Given the description of an element on the screen output the (x, y) to click on. 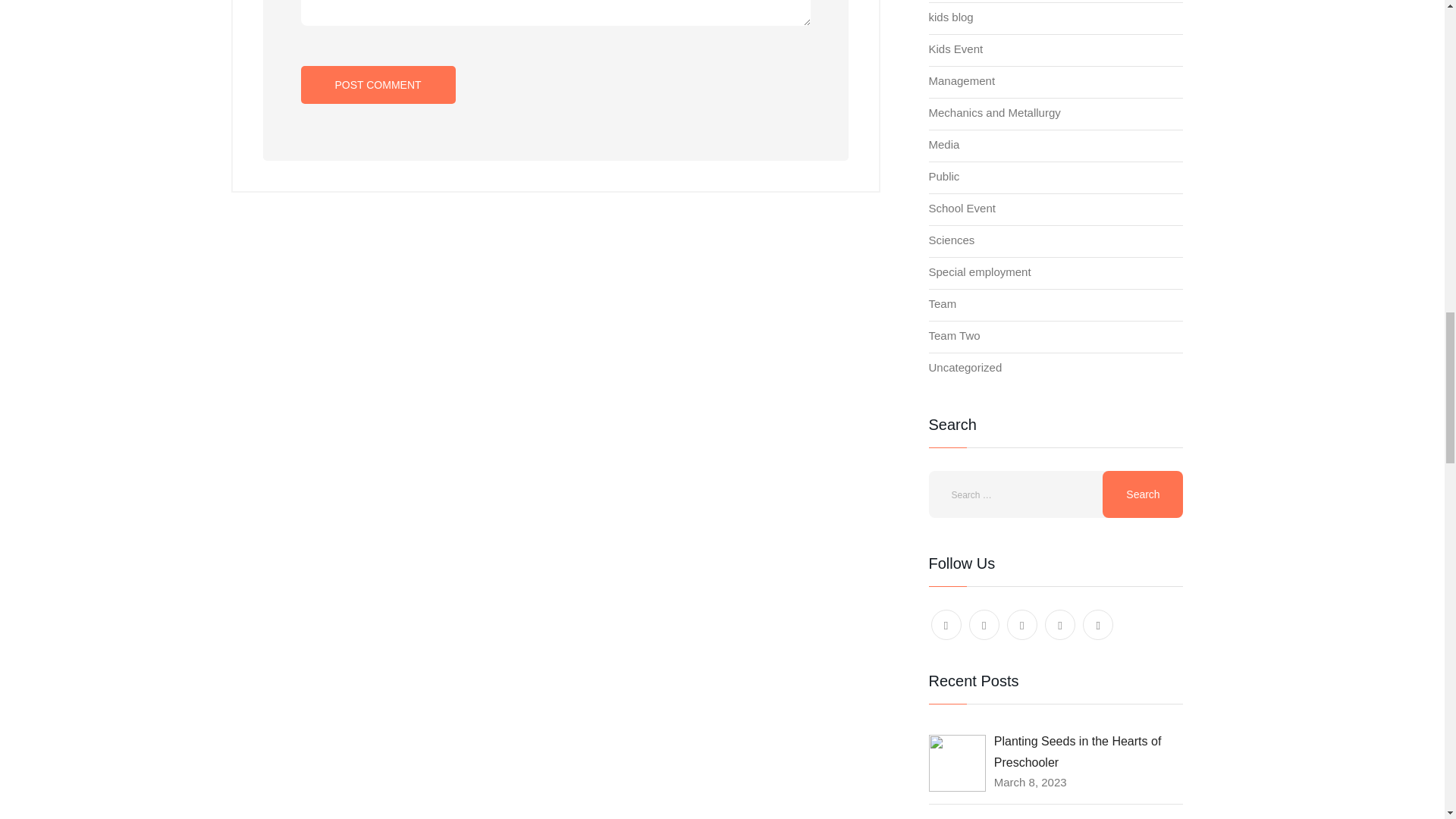
Post Comment (376, 85)
Search (1142, 493)
Search (1142, 493)
